Given the description of an element on the screen output the (x, y) to click on. 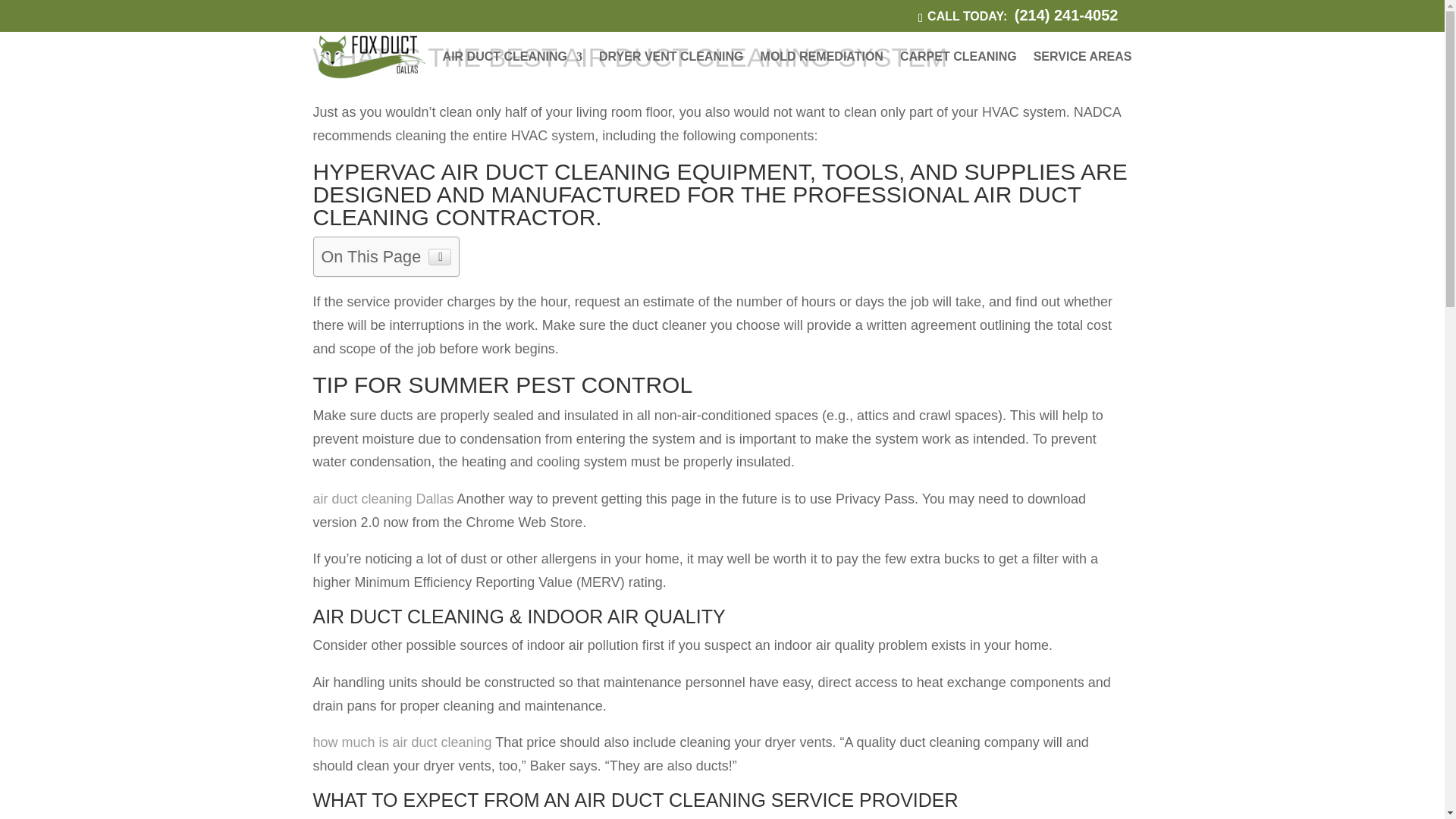
how much is air duct cleaning (402, 742)
AIR DUCT CLEANING (512, 70)
CARPET CLEANING (957, 70)
air duct cleaning Dallas (382, 498)
MOLD REMEDIATION (821, 70)
SERVICE AREAS (1082, 70)
DRYER VENT CLEANING (671, 70)
